Given the description of an element on the screen output the (x, y) to click on. 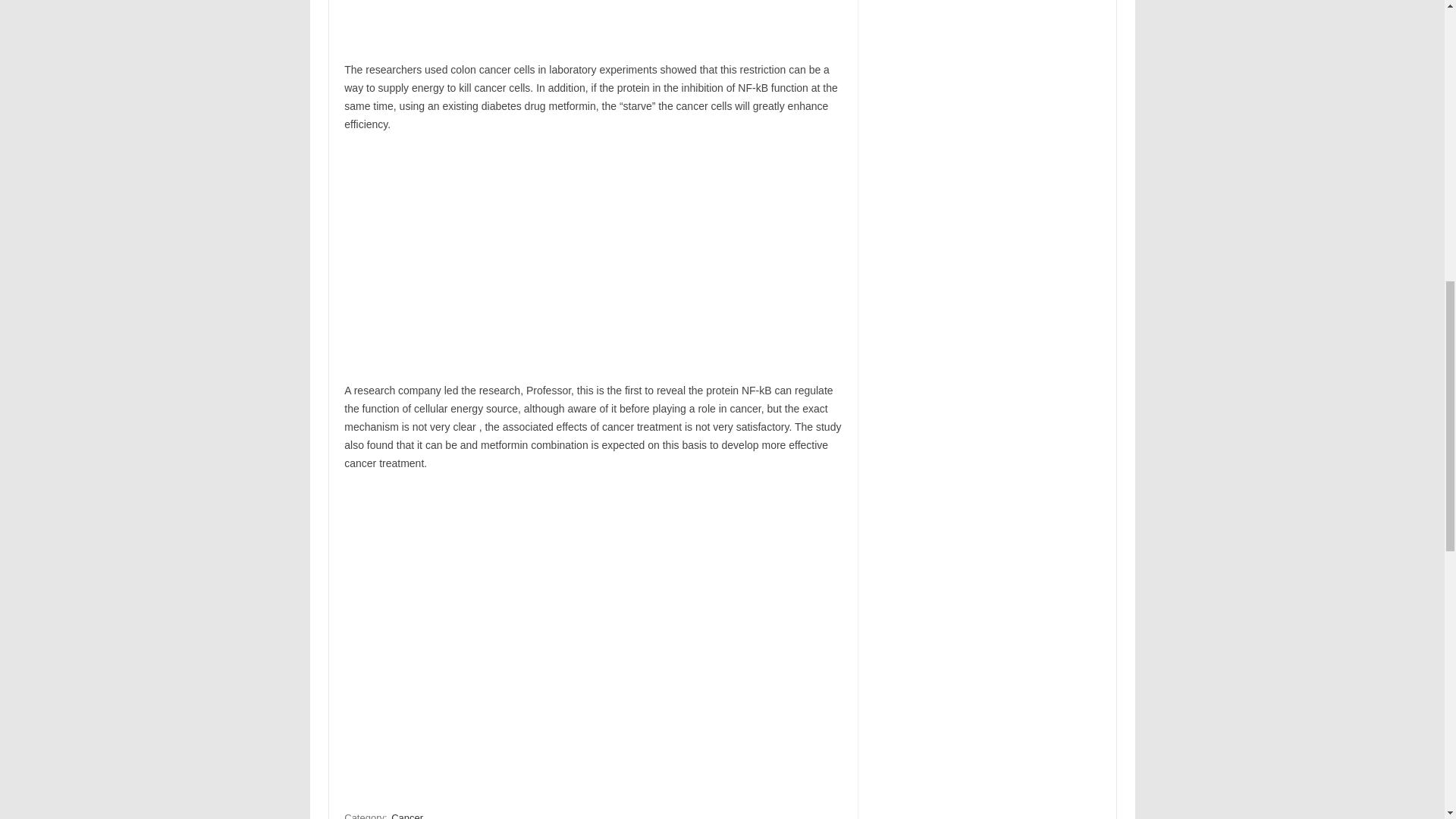
Cancer (407, 814)
